Given the description of an element on the screen output the (x, y) to click on. 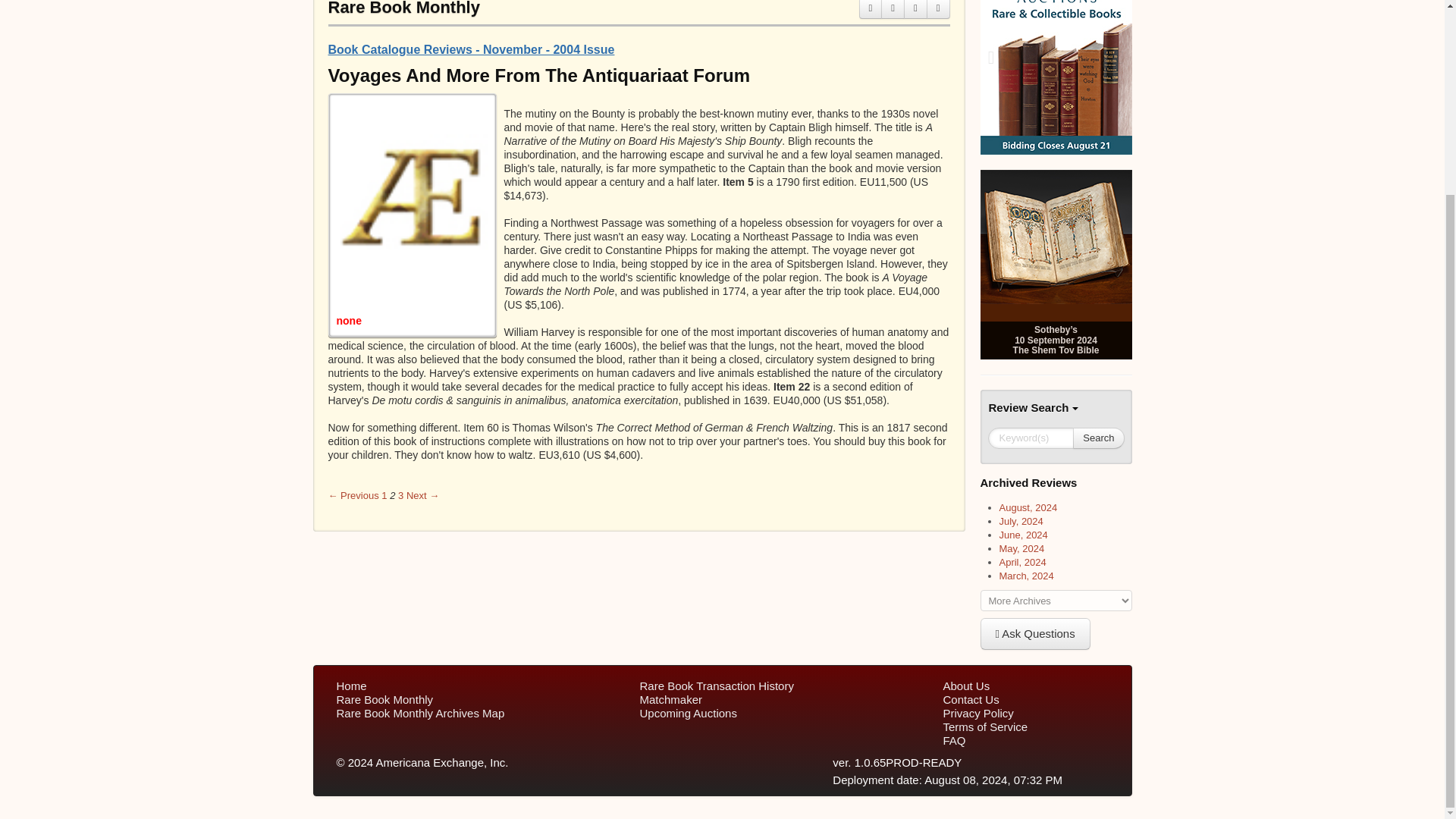
Send Email to Friend (892, 9)
Print (870, 9)
Change Font Size (915, 9)
Book Catalogue Reviews - November - 2004 Issue (470, 49)
Share Link (938, 9)
